Given the description of an element on the screen output the (x, y) to click on. 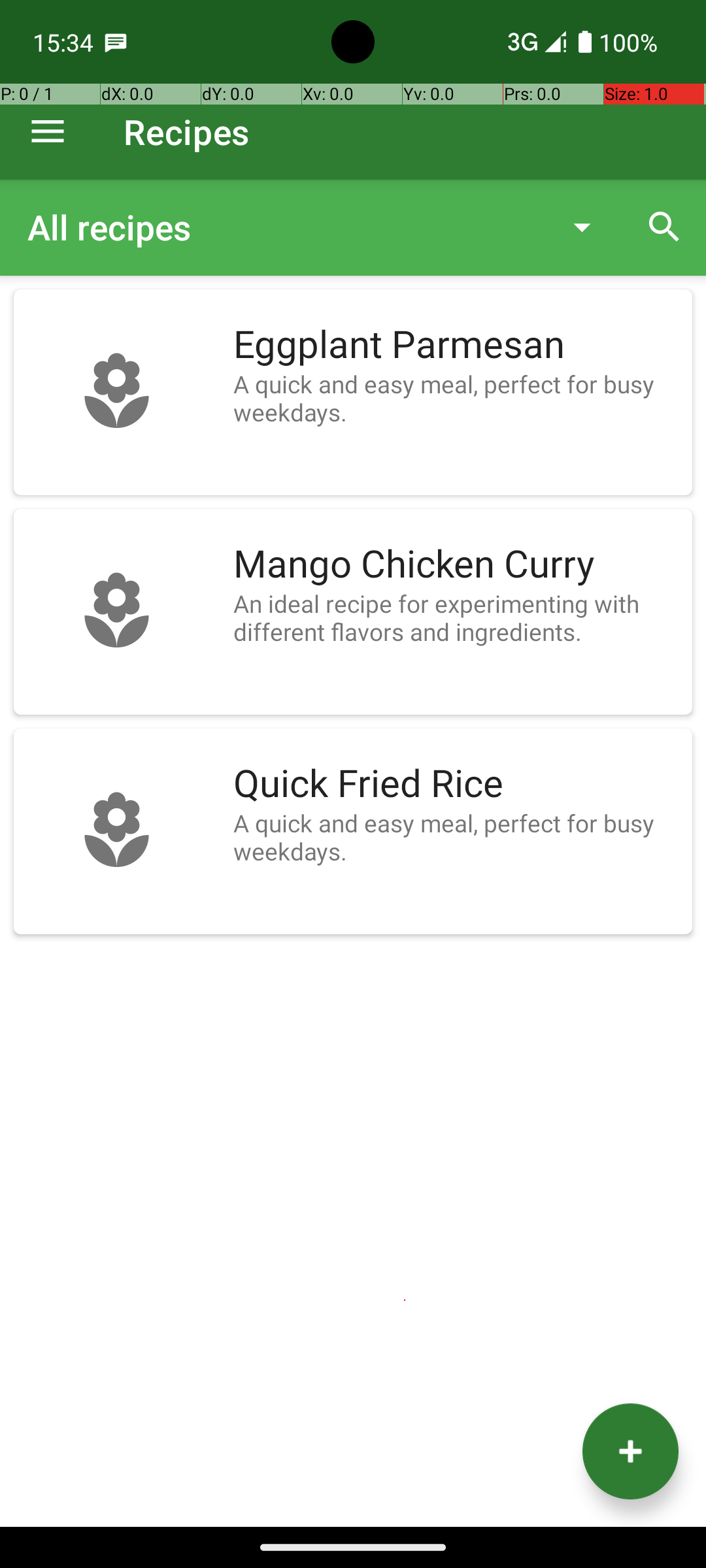
Mango Chicken Curry Element type: android.widget.TextView (455, 564)
